Given the description of an element on the screen output the (x, y) to click on. 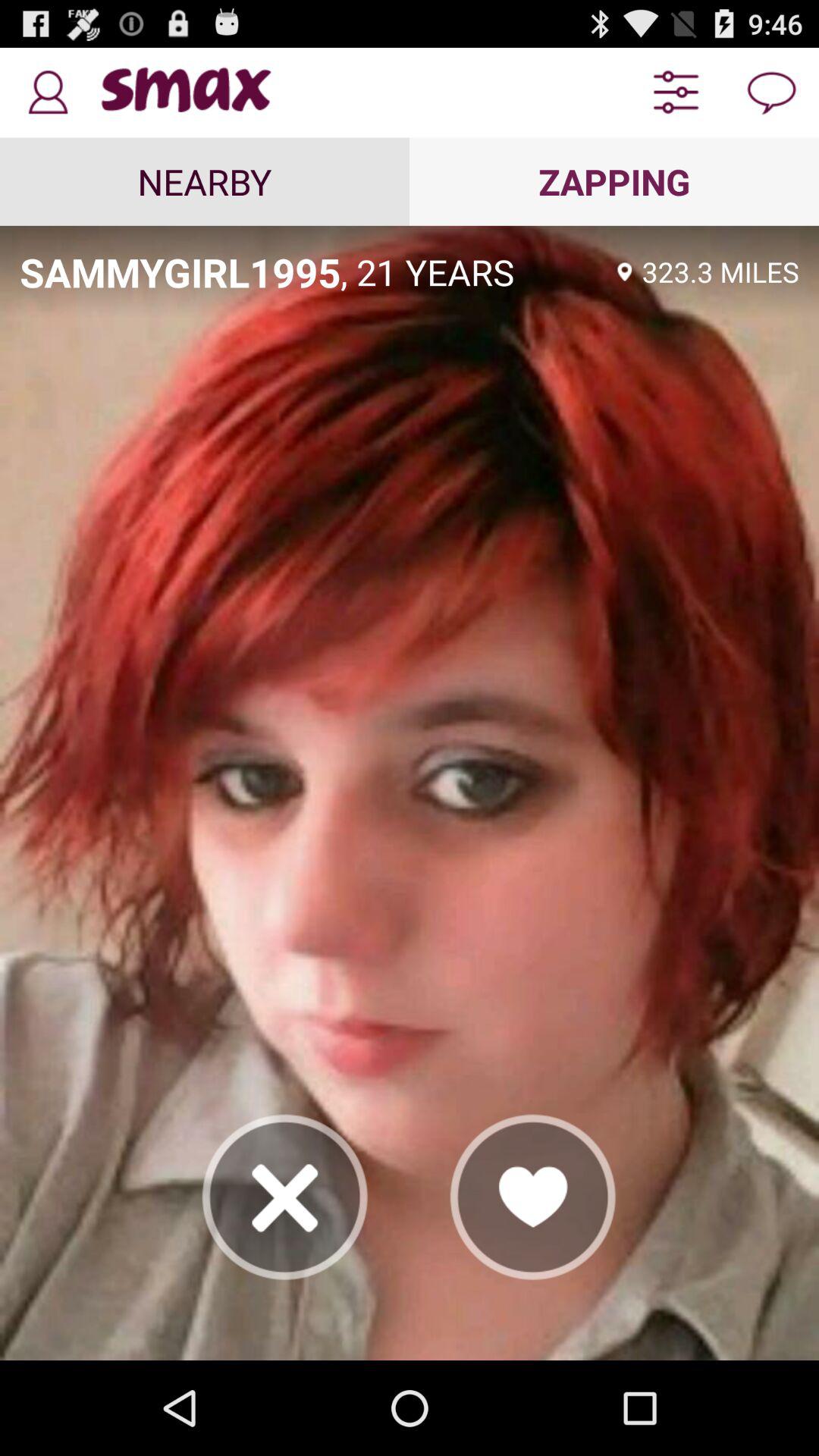
scroll until 323.3 miles icon (720, 271)
